Given the description of an element on the screen output the (x, y) to click on. 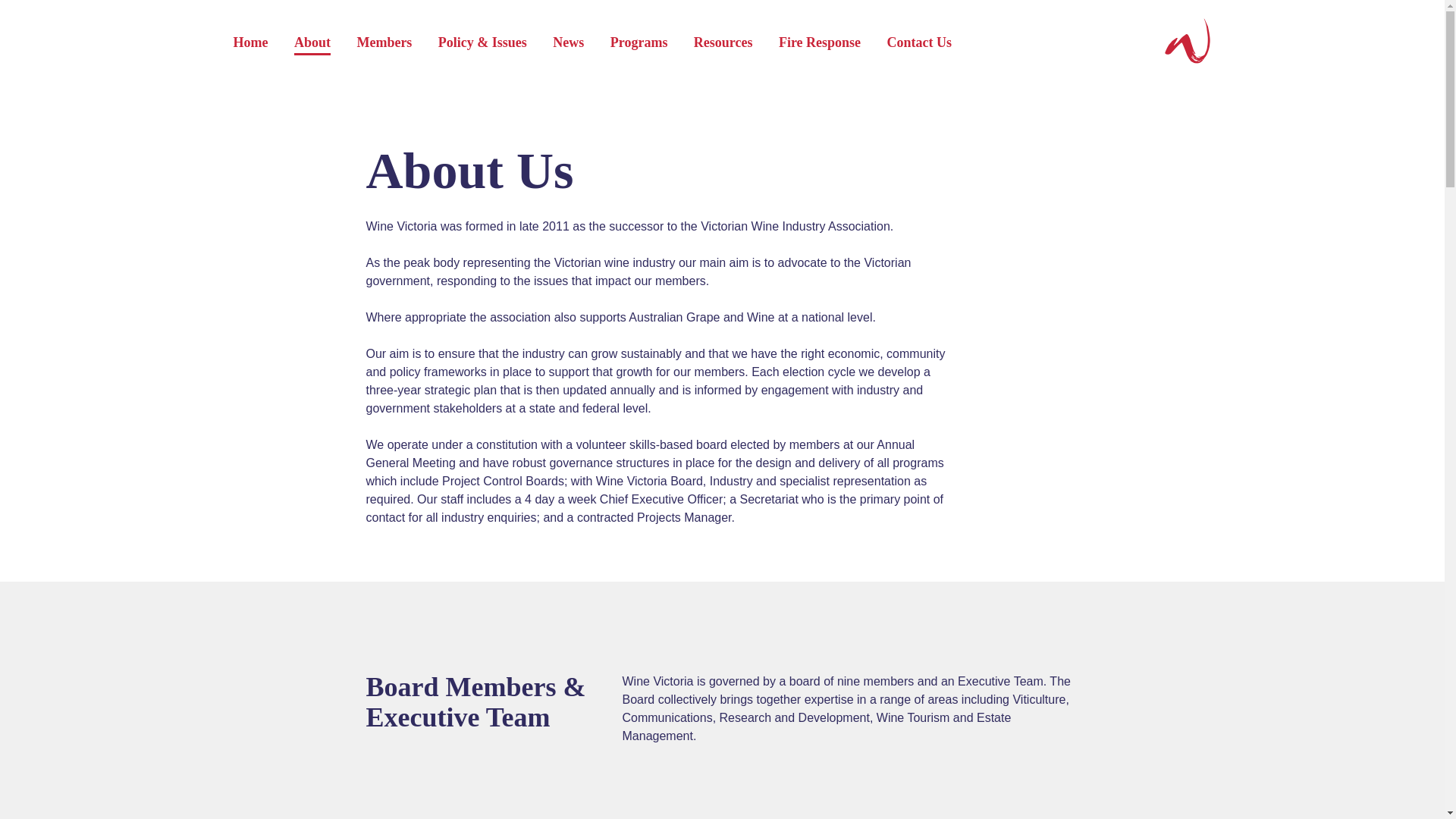
Policy & Issues Element type: text (482, 43)
Fire Response Element type: text (819, 43)
Members Element type: text (383, 43)
Home Element type: text (250, 43)
News Element type: text (567, 43)
Contact Us Element type: text (919, 43)
Programs Element type: text (639, 43)
Resources Element type: text (723, 43)
About Element type: text (312, 43)
